Given the description of an element on the screen output the (x, y) to click on. 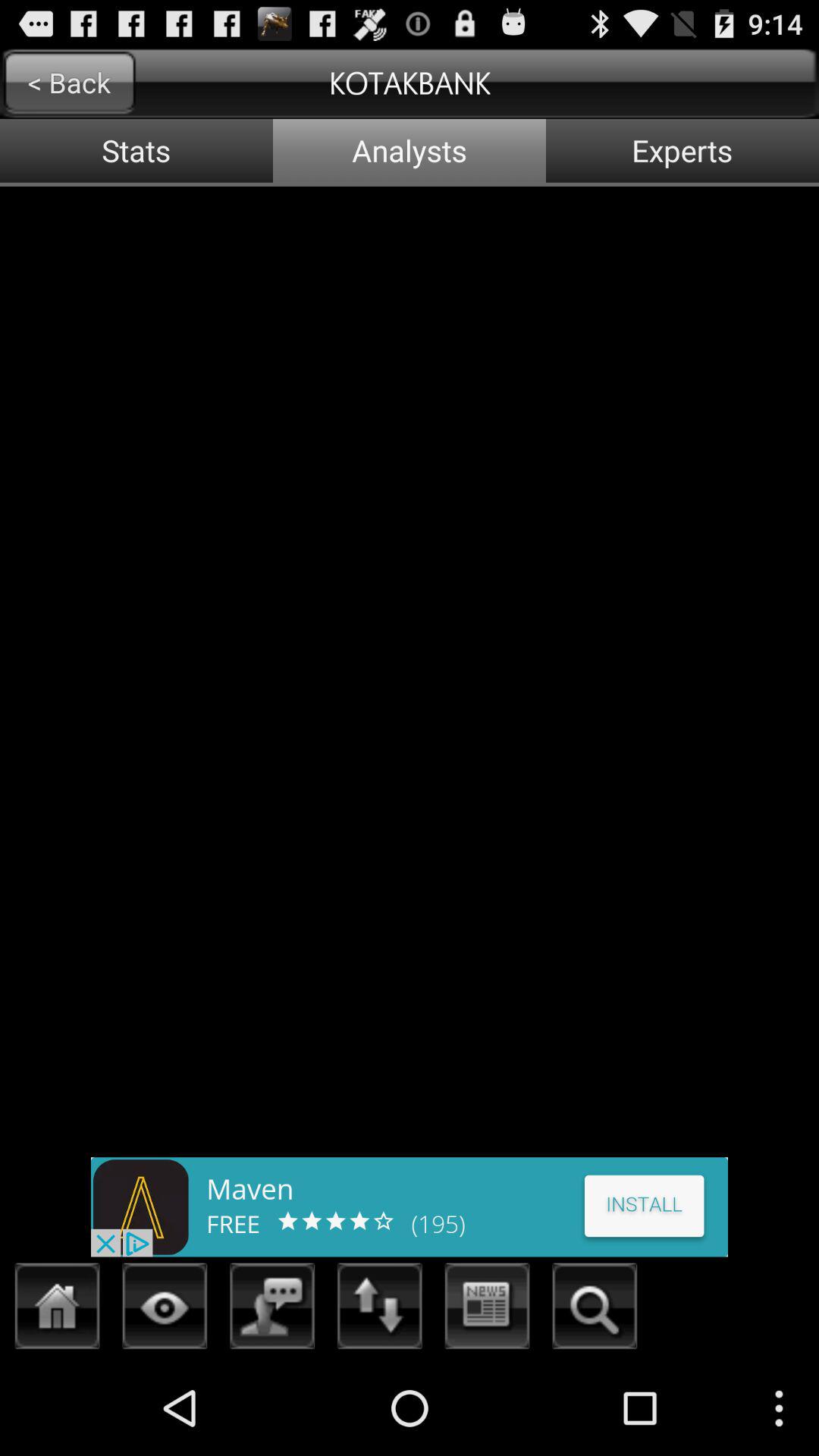
home (57, 1310)
